Given the description of an element on the screen output the (x, y) to click on. 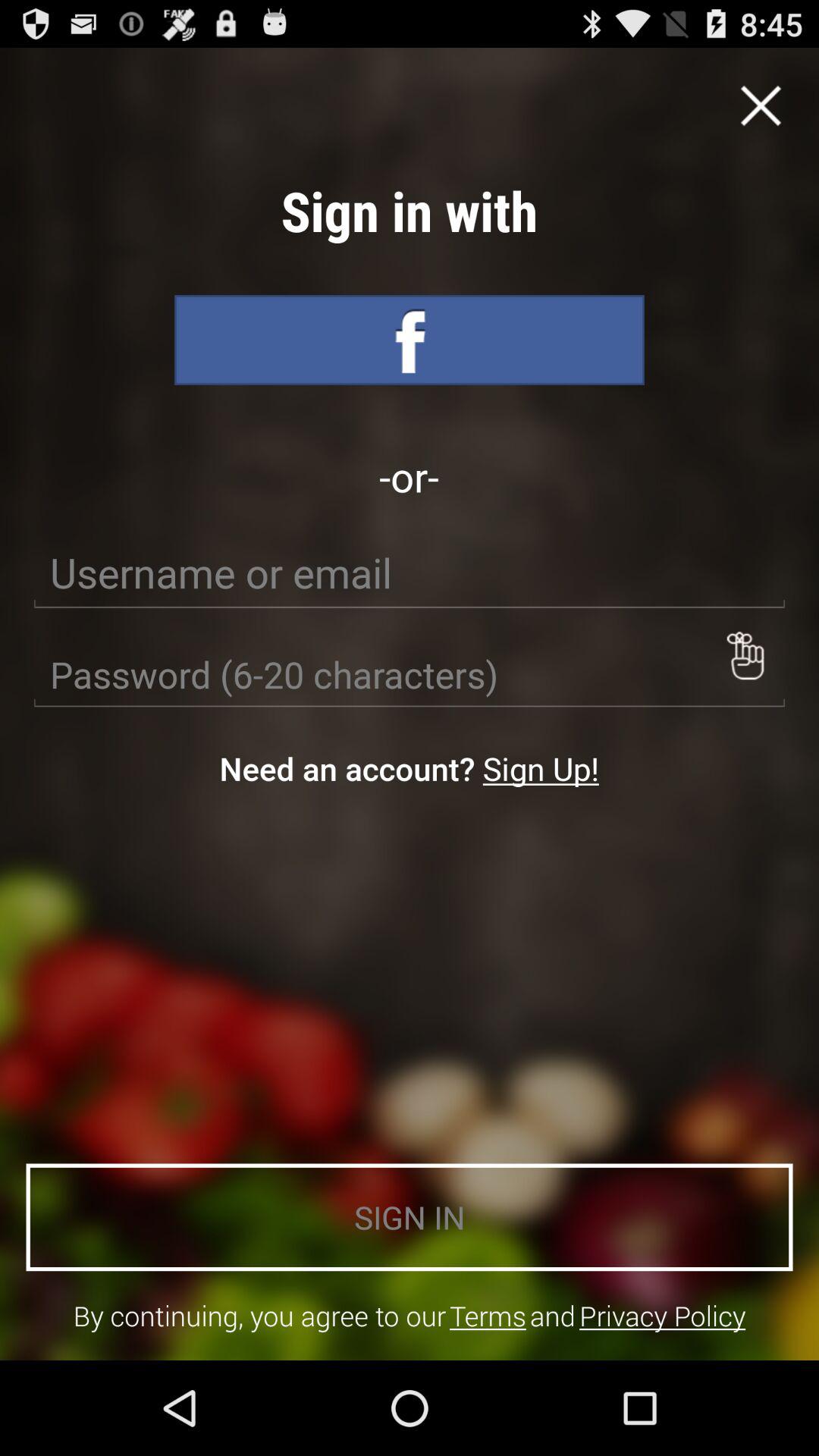
tap the button above the sign in (540, 767)
